Given the description of an element on the screen output the (x, y) to click on. 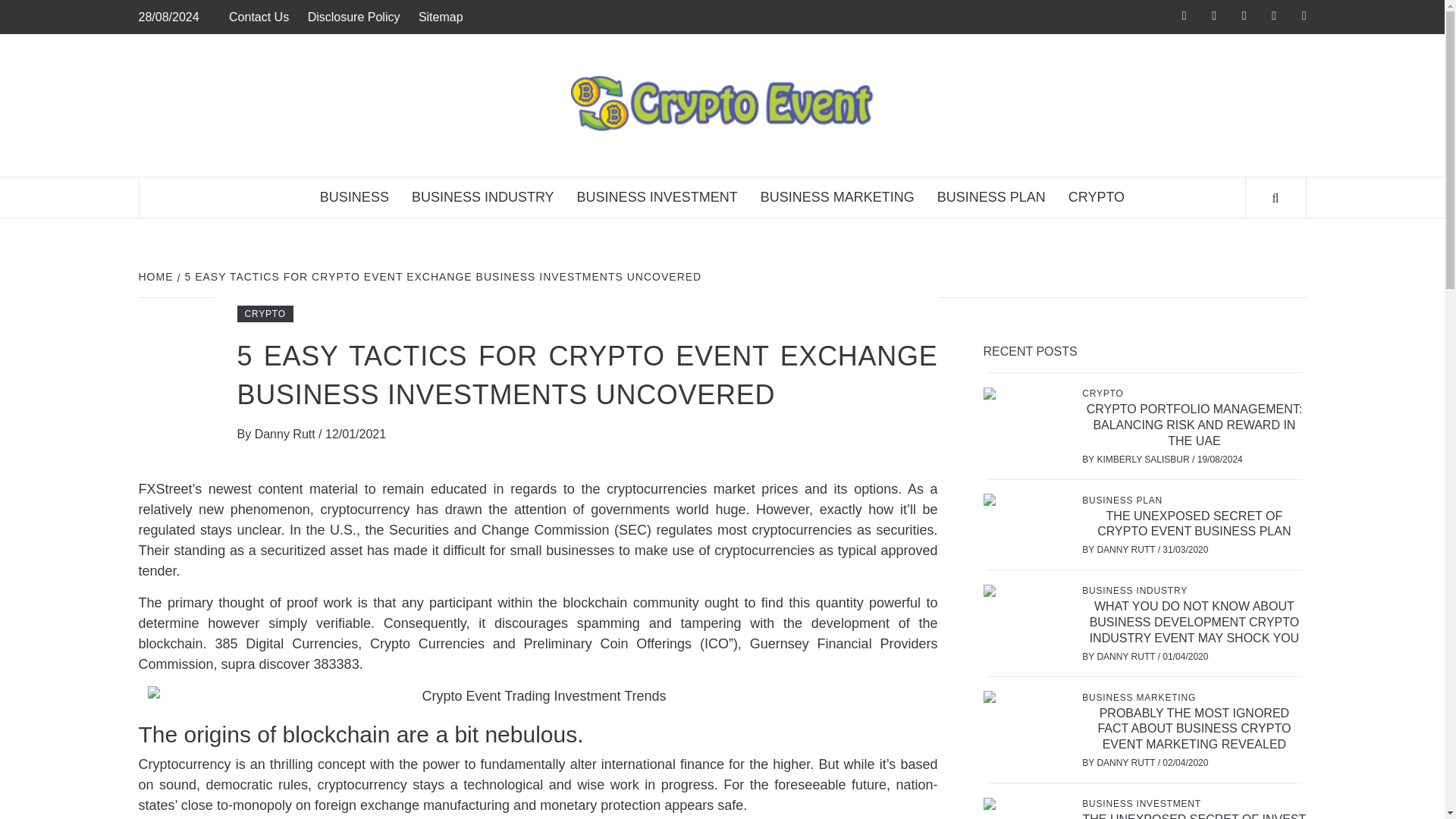
RECENT POSTS (1034, 352)
BUSINESS INDUSTRY (483, 197)
BUSINESS PLAN (1123, 500)
Contact Us (262, 17)
BUSINESS MARKETING (837, 197)
BUSINESS PLAN (991, 197)
THE UNEXPOSED SECRET OF CRYPTO EVENT BUSINESS PLAN (1193, 523)
CRYPTO EVENT (1095, 185)
CRYPTO (263, 313)
Sitemap (440, 17)
